Given the description of an element on the screen output the (x, y) to click on. 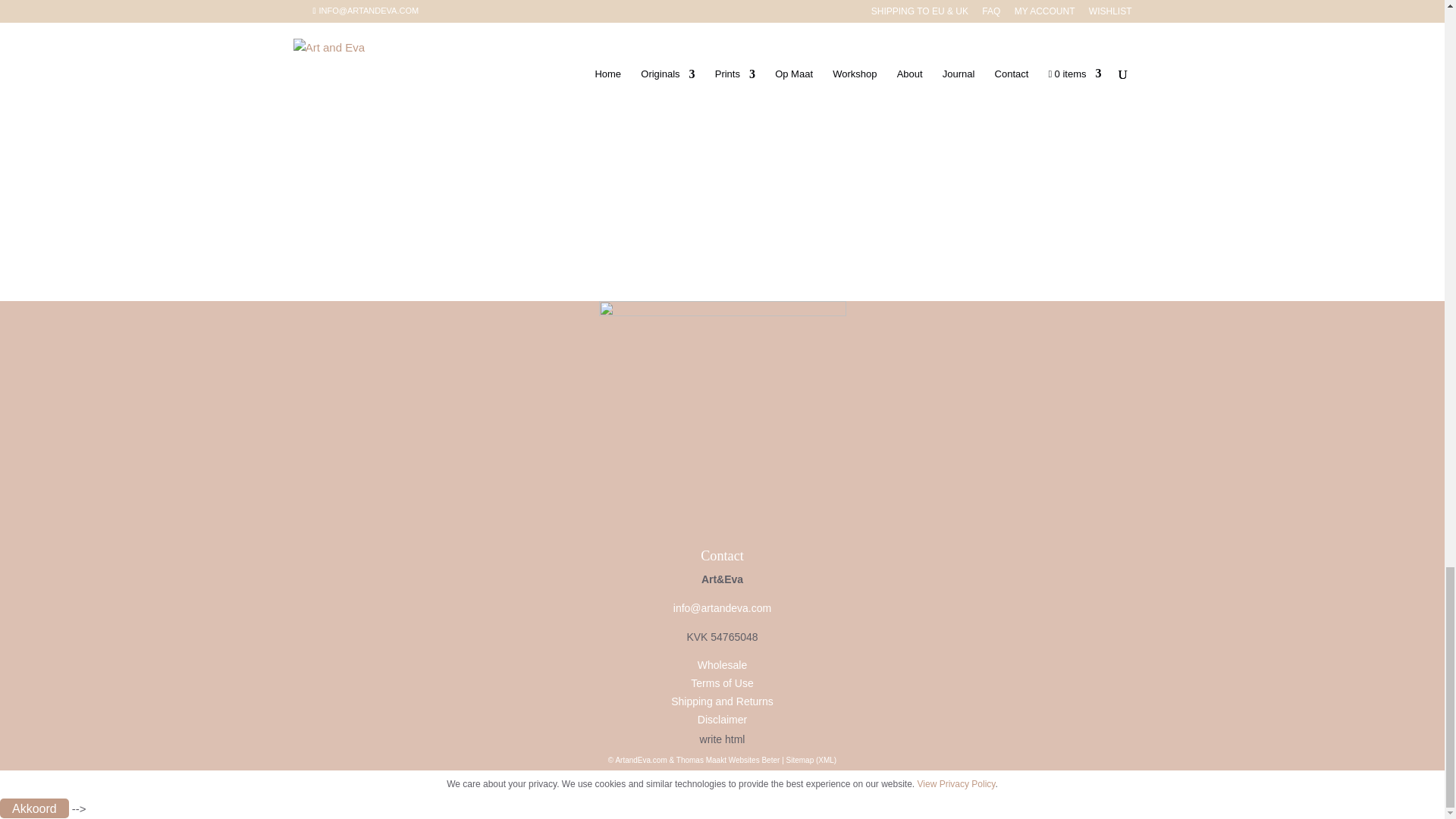
Disclaimer (721, 719)
Wholesale (721, 664)
Terms of Use (721, 683)
Shipping and Returns (722, 701)
Submit (343, 101)
